Given the description of an element on the screen output the (x, y) to click on. 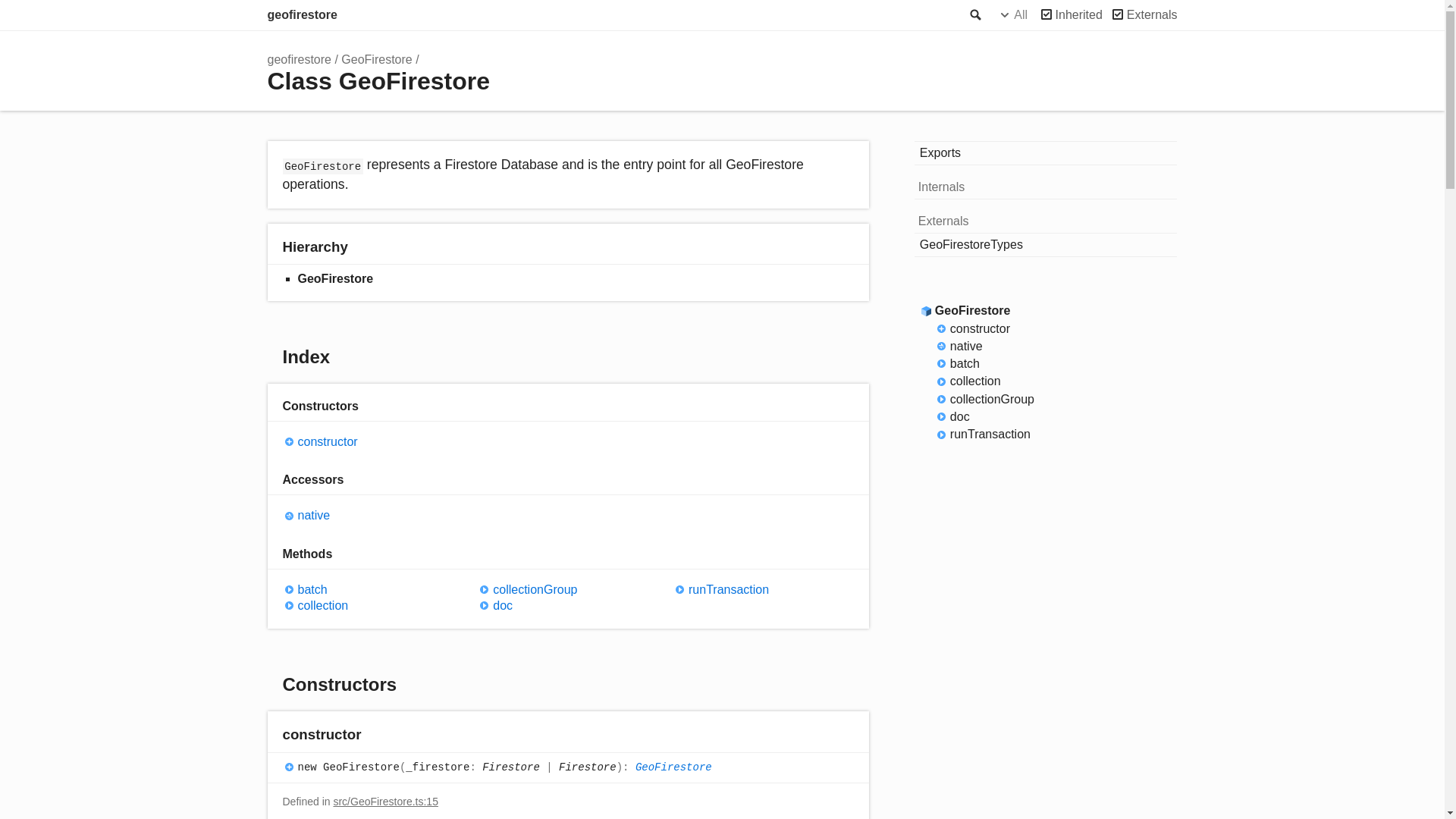
constructor (372, 441)
GeoFirestore (376, 59)
geofirestore (298, 59)
GeoFirestore (672, 767)
collectionGroup (567, 589)
batch (372, 589)
native (372, 514)
collection (372, 605)
runTransaction (762, 589)
doc (567, 605)
